Given the description of an element on the screen output the (x, y) to click on. 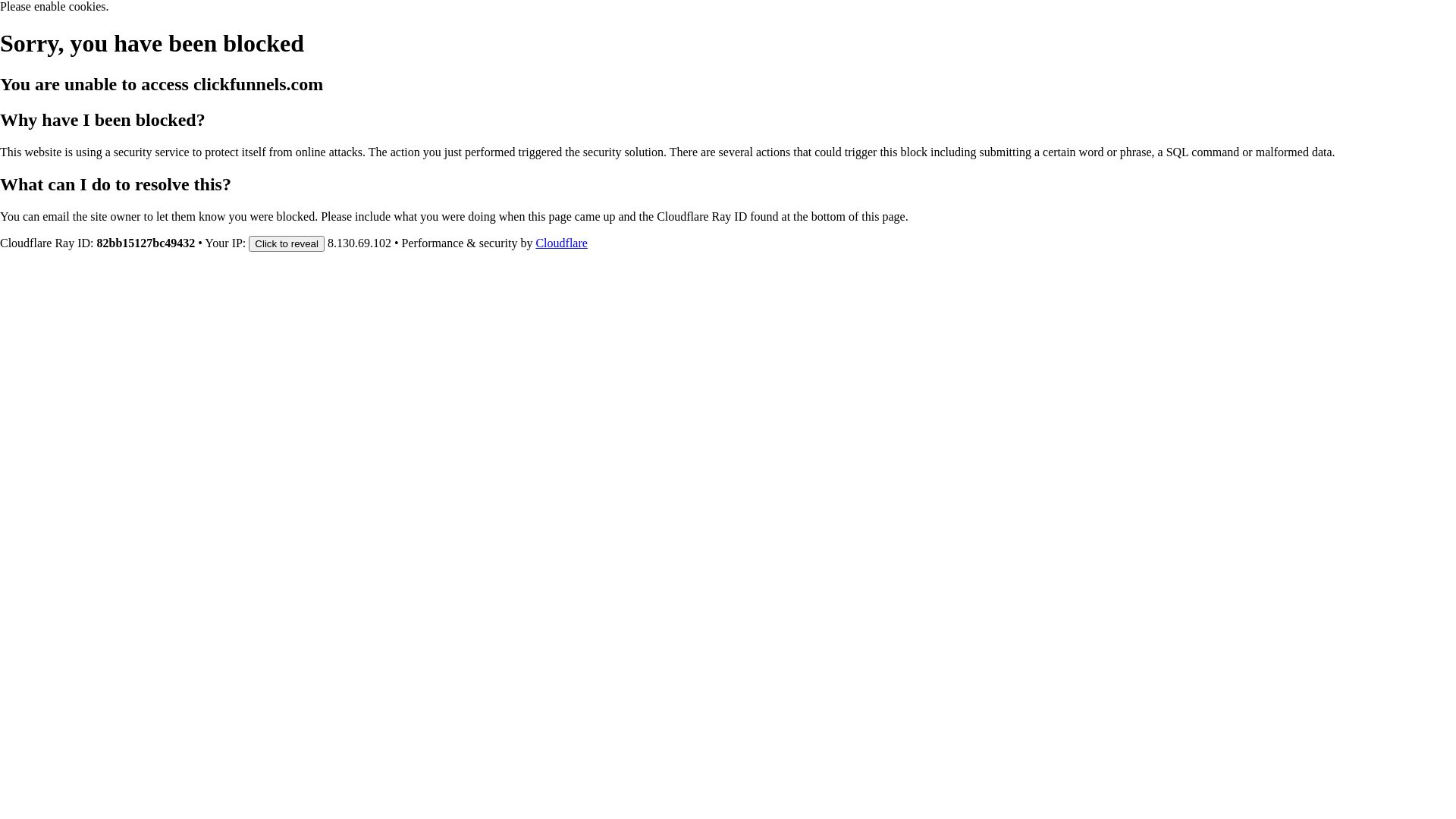
Cloudflare Element type: text (560, 242)
Click to reveal Element type: text (286, 243)
